Given the description of an element on the screen output the (x, y) to click on. 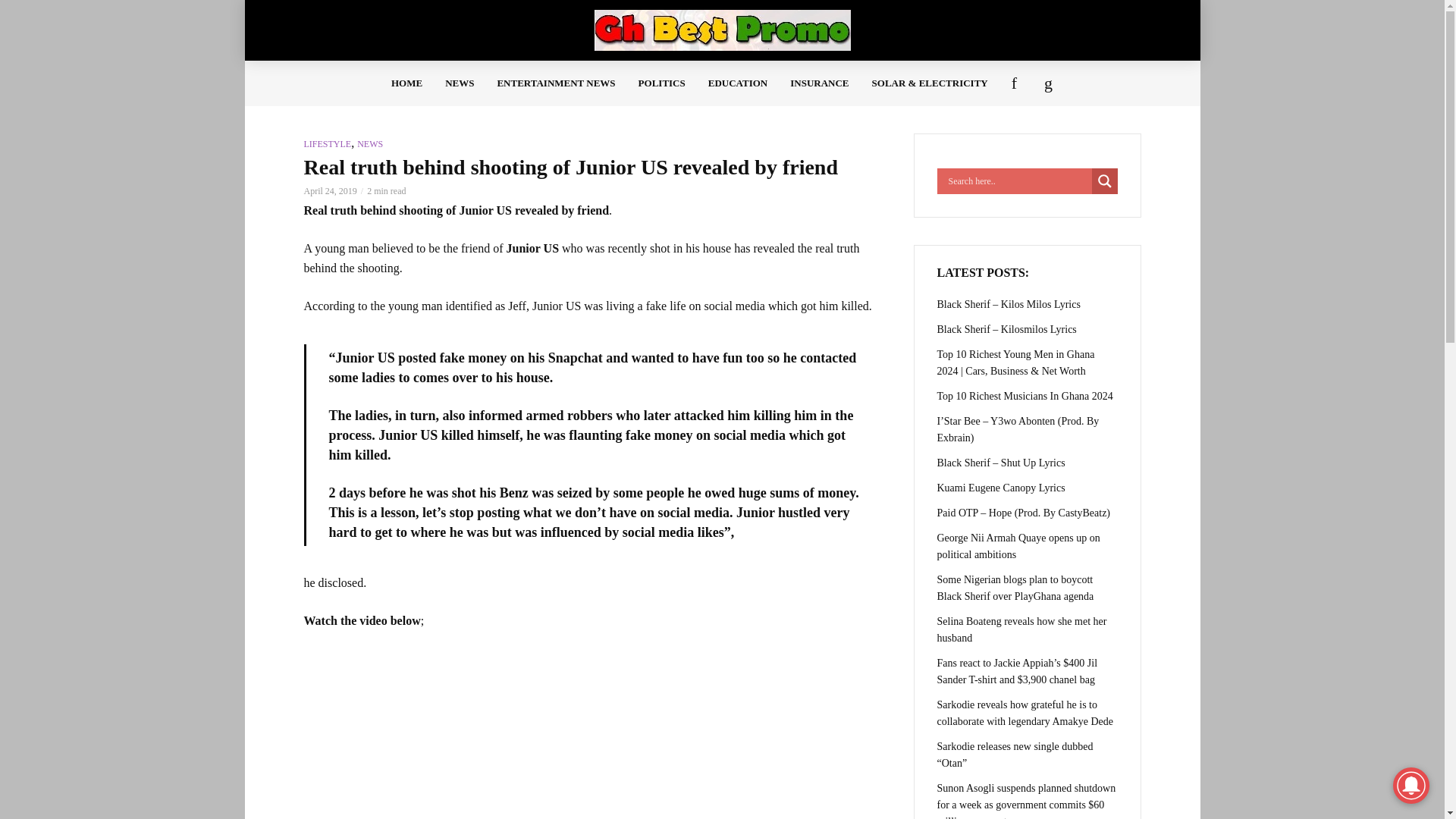
HOME (406, 83)
INSURANCE (819, 83)
LIFESTYLE (326, 143)
EDUCATION (737, 83)
NEWS (369, 143)
ENTERTAINMENT NEWS (555, 83)
NEWS (458, 83)
POLITICS (662, 83)
